Given the description of an element on the screen output the (x, y) to click on. 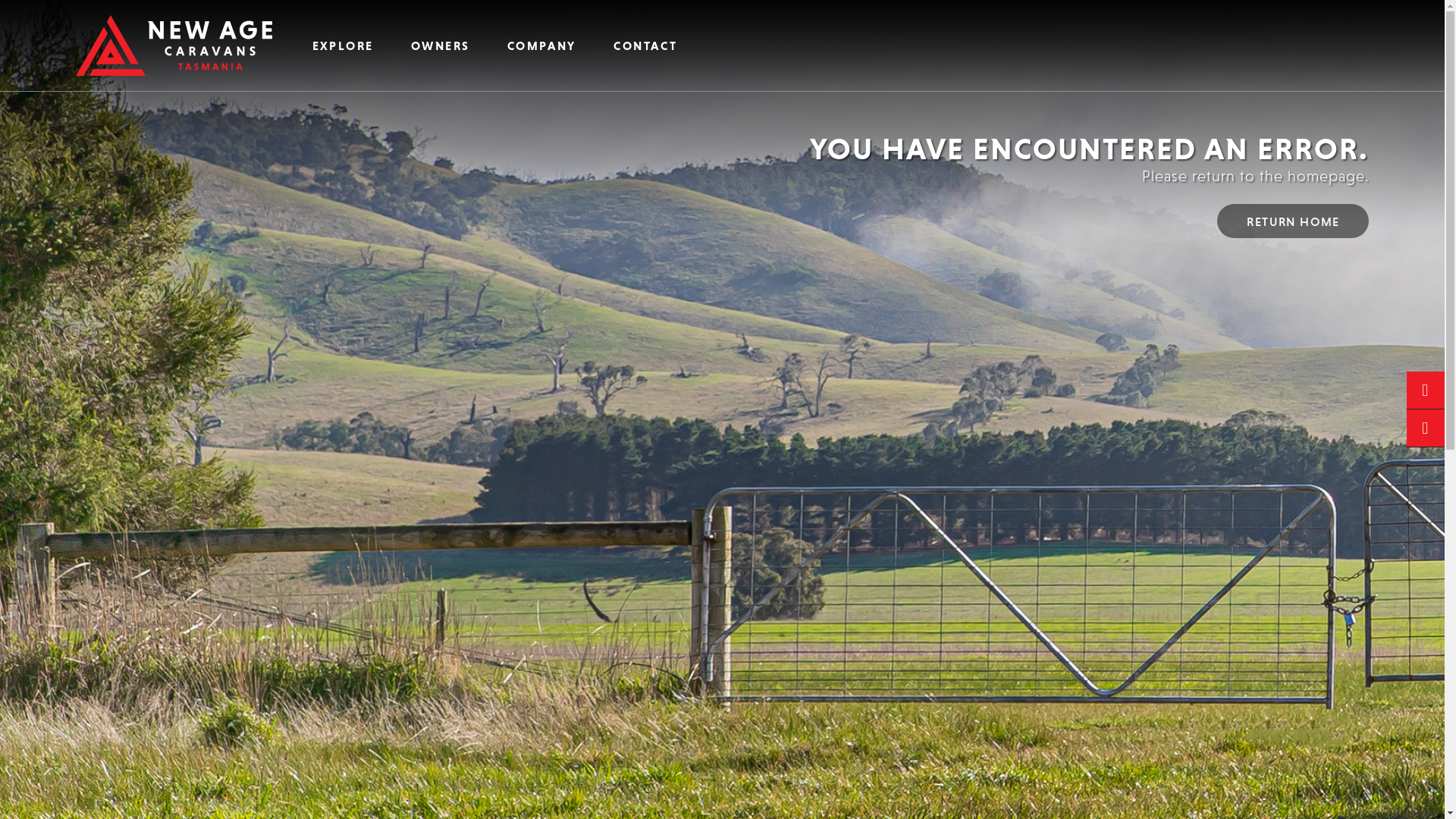
OWNERS Element type: text (440, 45)
CONTACT Element type: text (645, 45)
RETURN HOME Element type: text (1292, 220)
COMPANY Element type: text (541, 45)
EXPLORE Element type: text (342, 45)
